Given the description of an element on the screen output the (x, y) to click on. 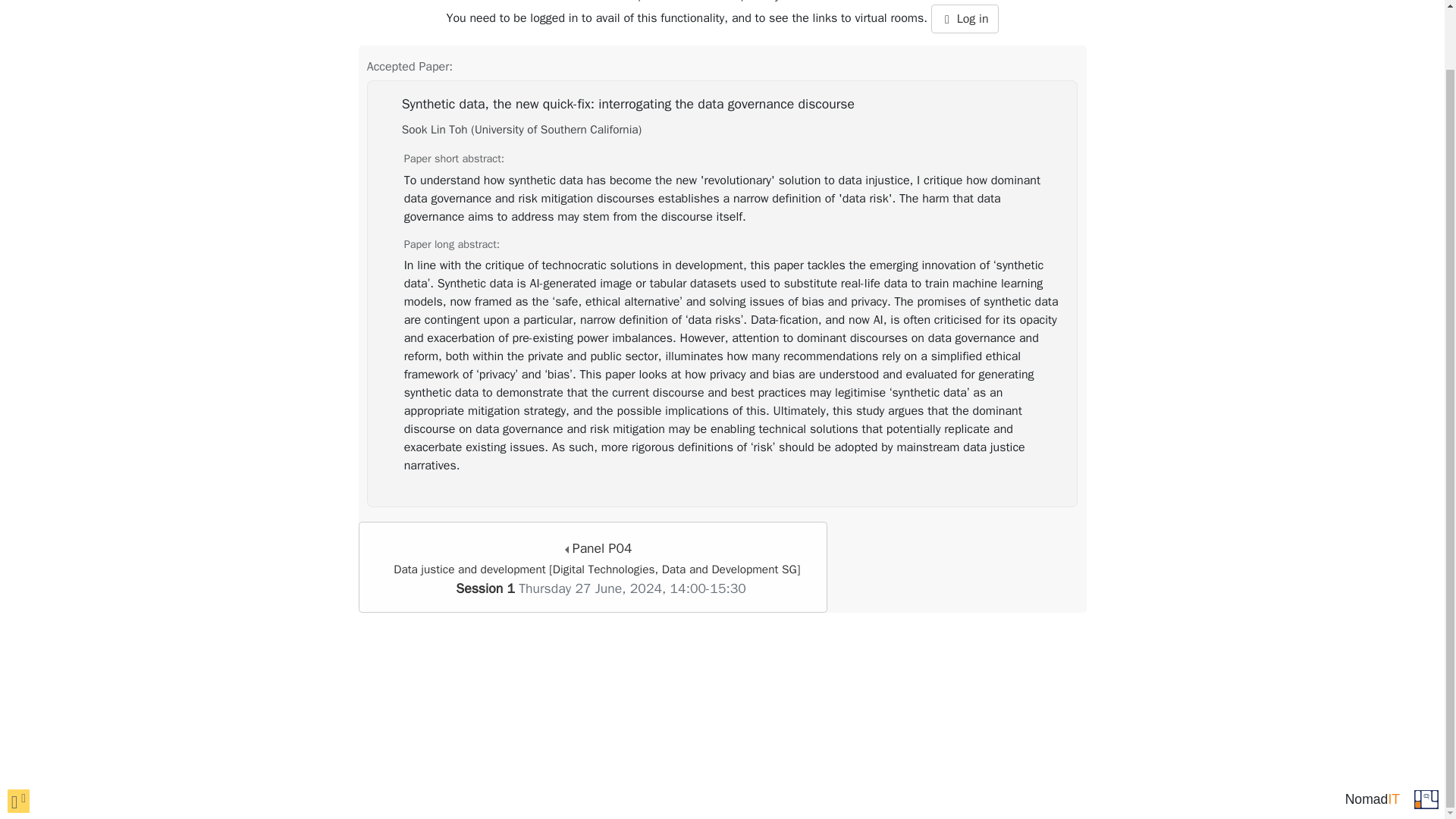
back to Panel (592, 566)
NomadIT (1371, 735)
click to toggle popover (17, 735)
Log in (964, 18)
All conferences (1425, 733)
Author (521, 129)
Log in (964, 18)
